Given the description of an element on the screen output the (x, y) to click on. 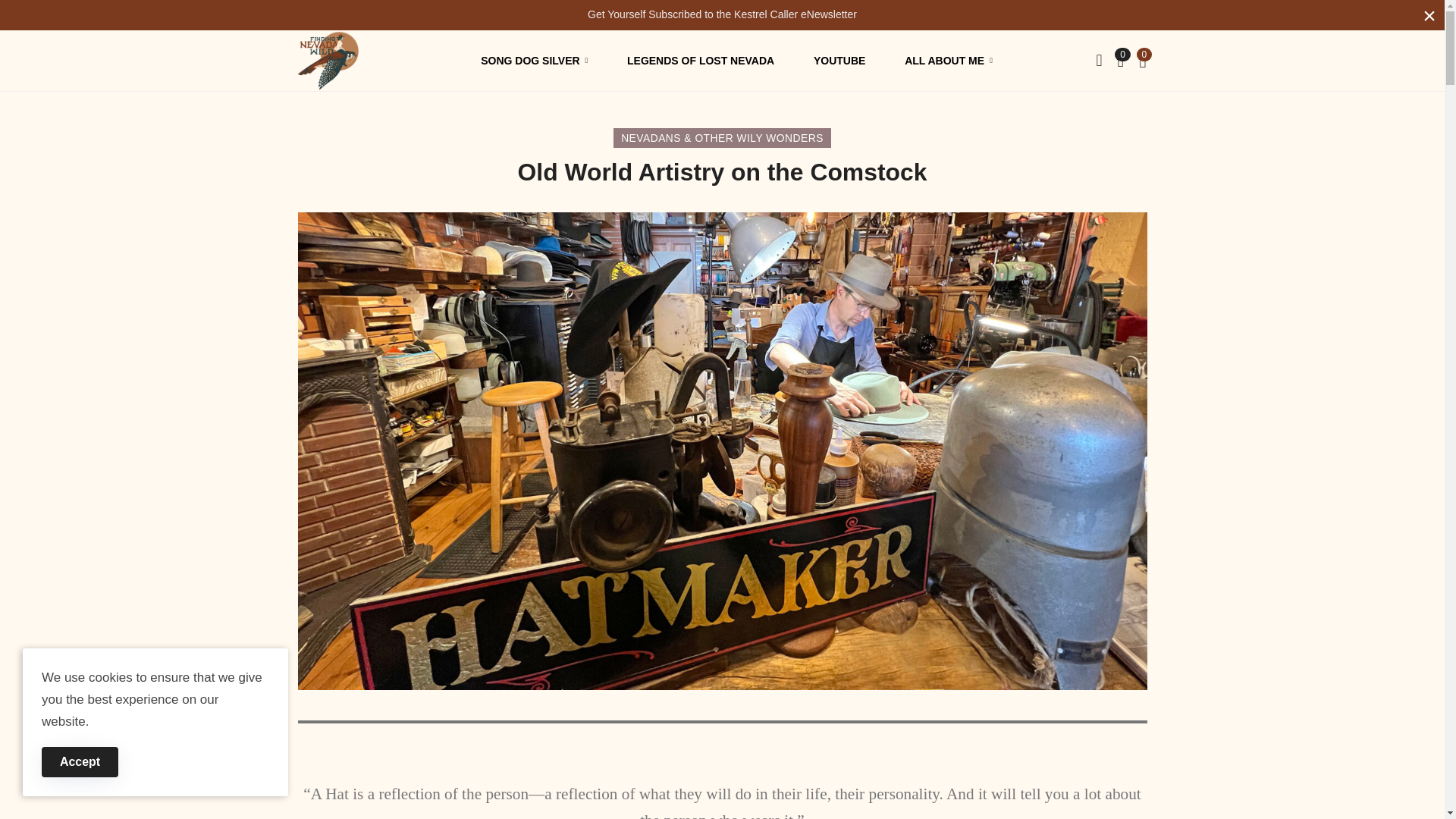
Finding Nevada Wild (327, 60)
